Given the description of an element on the screen output the (x, y) to click on. 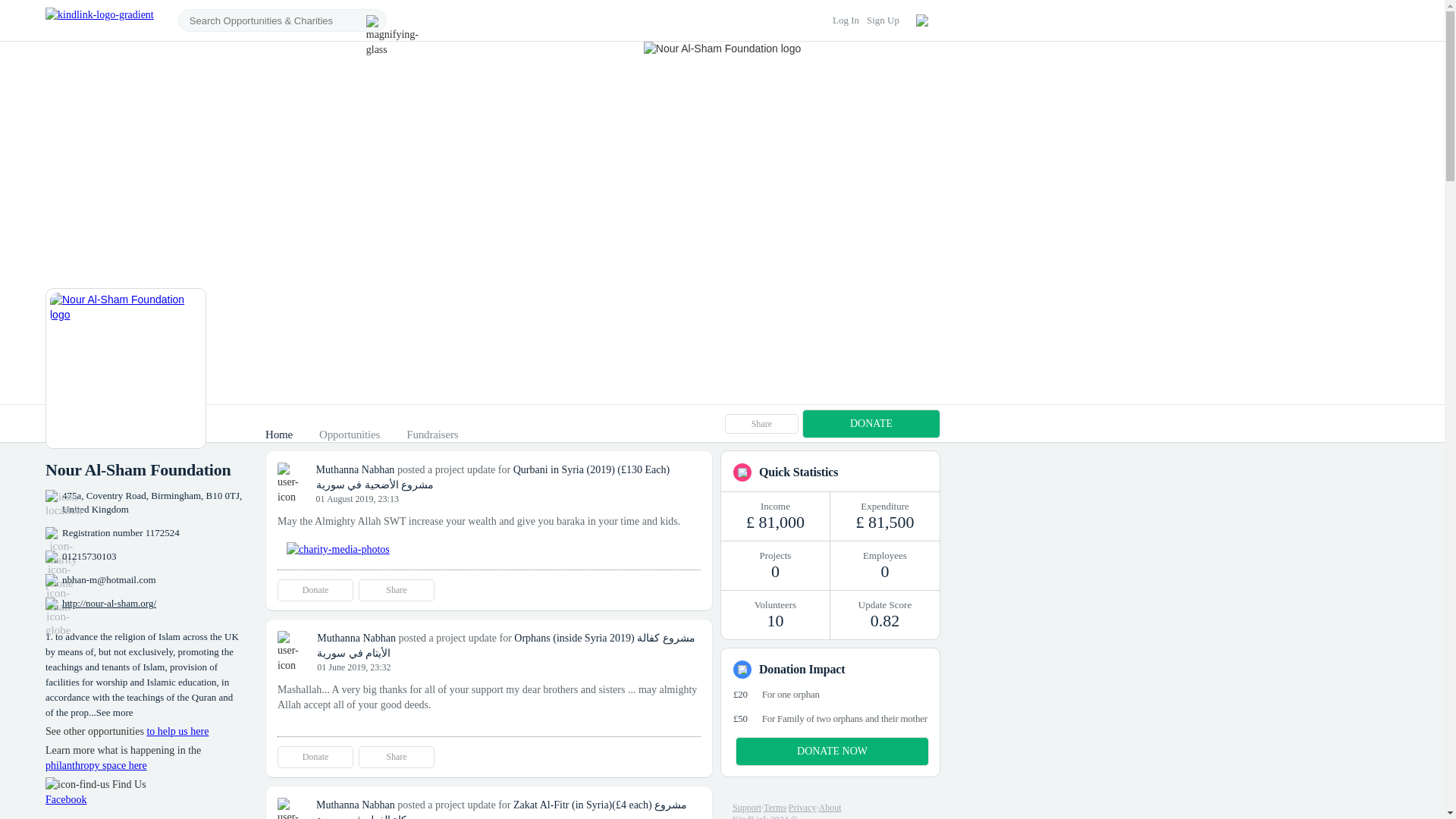
Share (395, 757)
Log In (845, 19)
Share (395, 590)
Donate (315, 590)
See more (114, 712)
Home (278, 434)
Fundraisers (432, 434)
philanthropy space here (96, 765)
Opportunities (349, 434)
Facebook (65, 799)
